Given the description of an element on the screen output the (x, y) to click on. 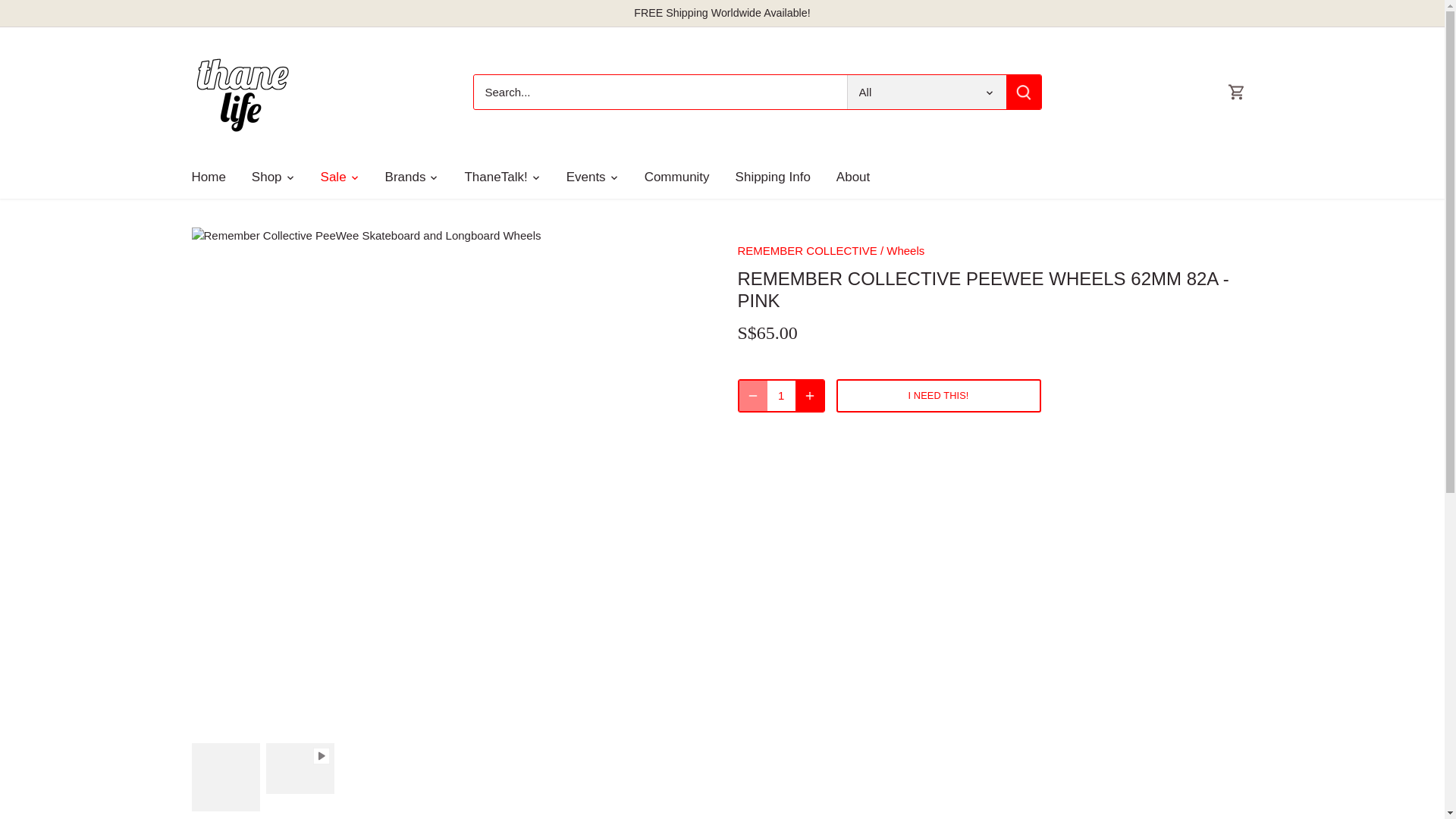
Home (214, 177)
1 (781, 395)
FREE Shipping Worldwide Available! (721, 12)
Shop (266, 177)
